Given the description of an element on the screen output the (x, y) to click on. 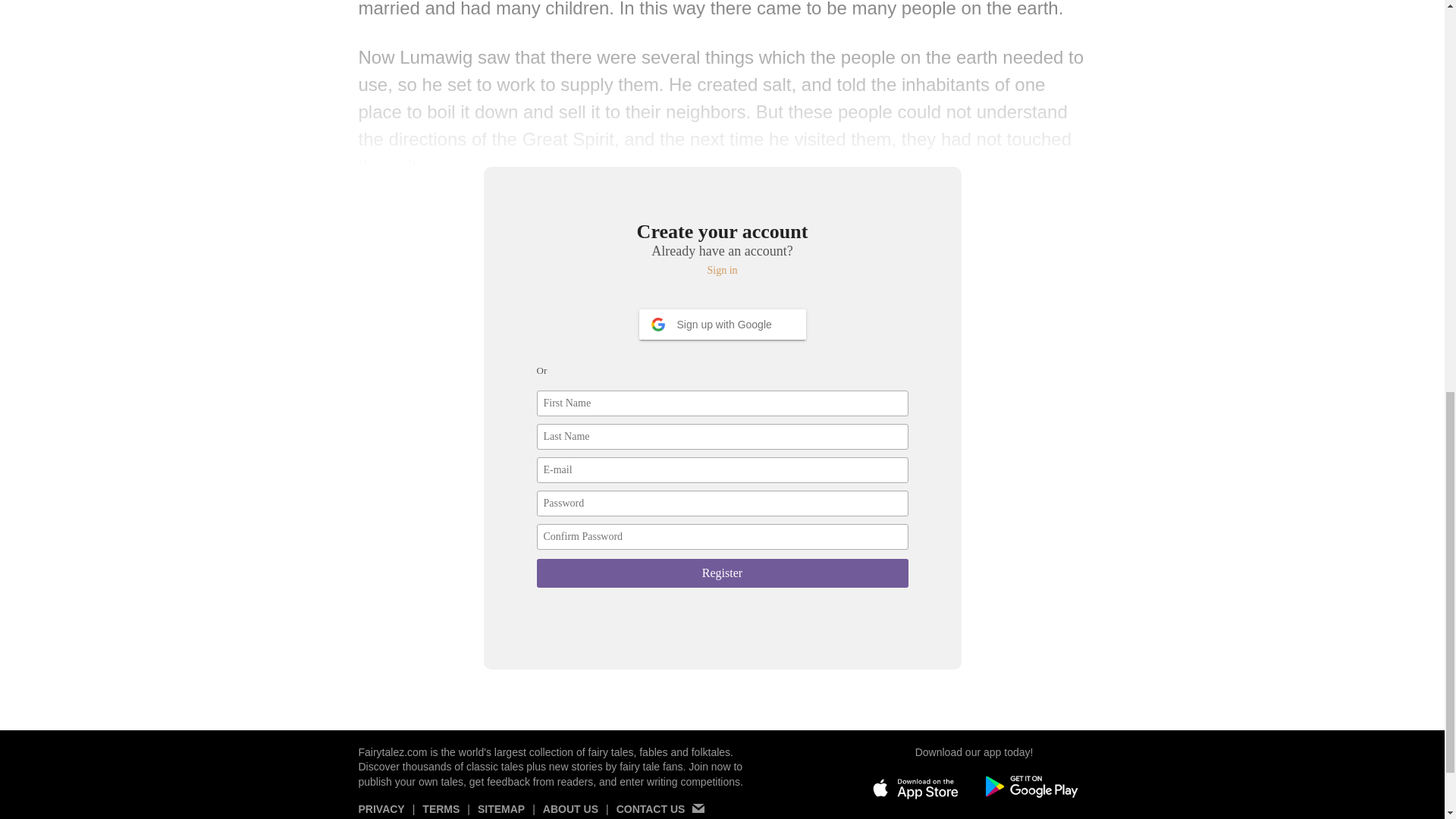
Privacy (381, 811)
Fairytalez.com (392, 752)
Sign up with Google (722, 324)
Register (722, 573)
PRIVACY (381, 811)
TERMS (441, 811)
Sitemap (500, 811)
Sign in (722, 270)
